Given the description of an element on the screen output the (x, y) to click on. 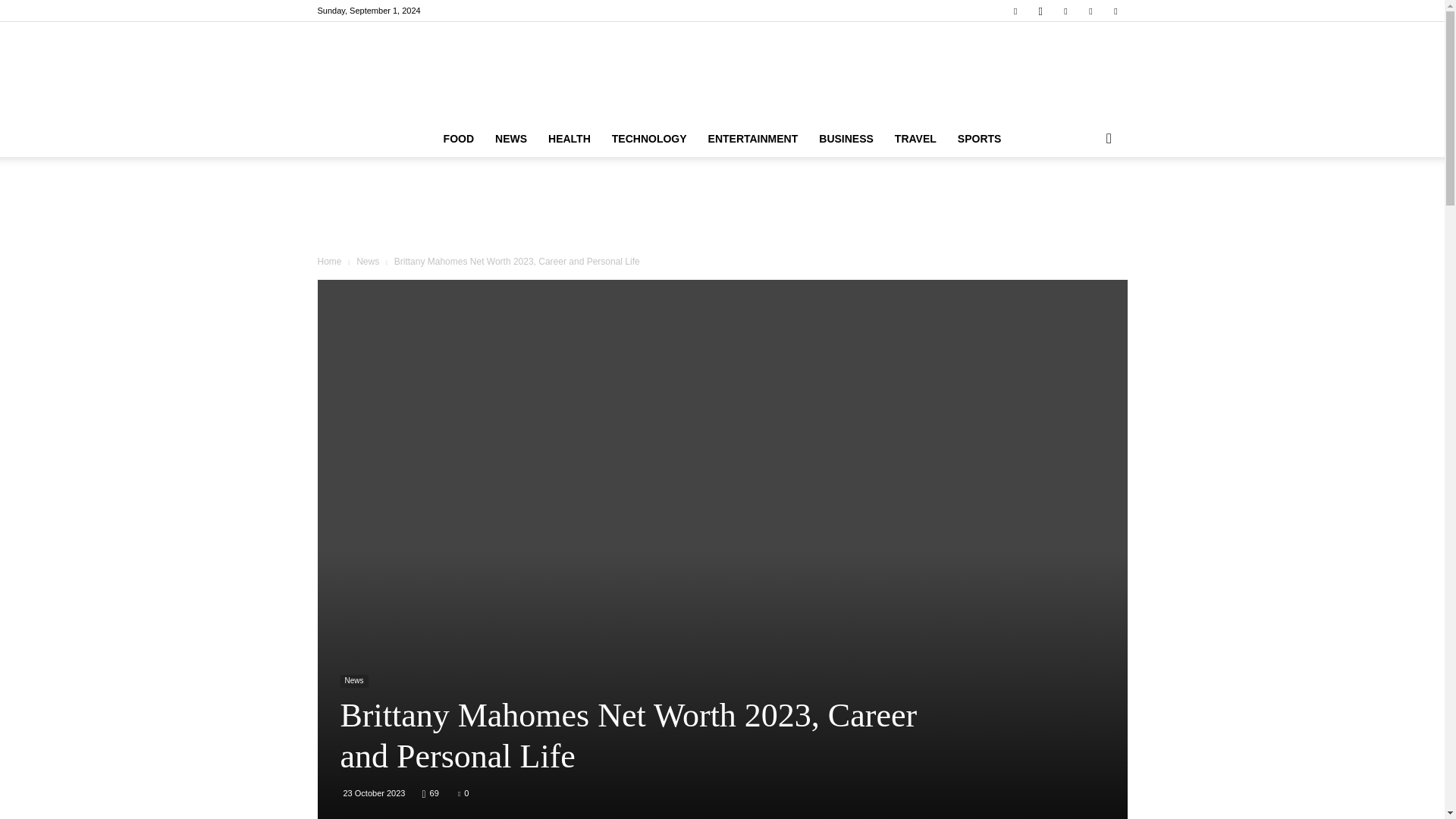
Twitter (1114, 10)
News (367, 261)
ENTERTAINMENT (753, 138)
HEALTH (569, 138)
News (353, 680)
Home (328, 261)
Facebook (1015, 10)
Pinterest (1065, 10)
TRAVEL (915, 138)
View all posts in News (367, 261)
